Given the description of an element on the screen output the (x, y) to click on. 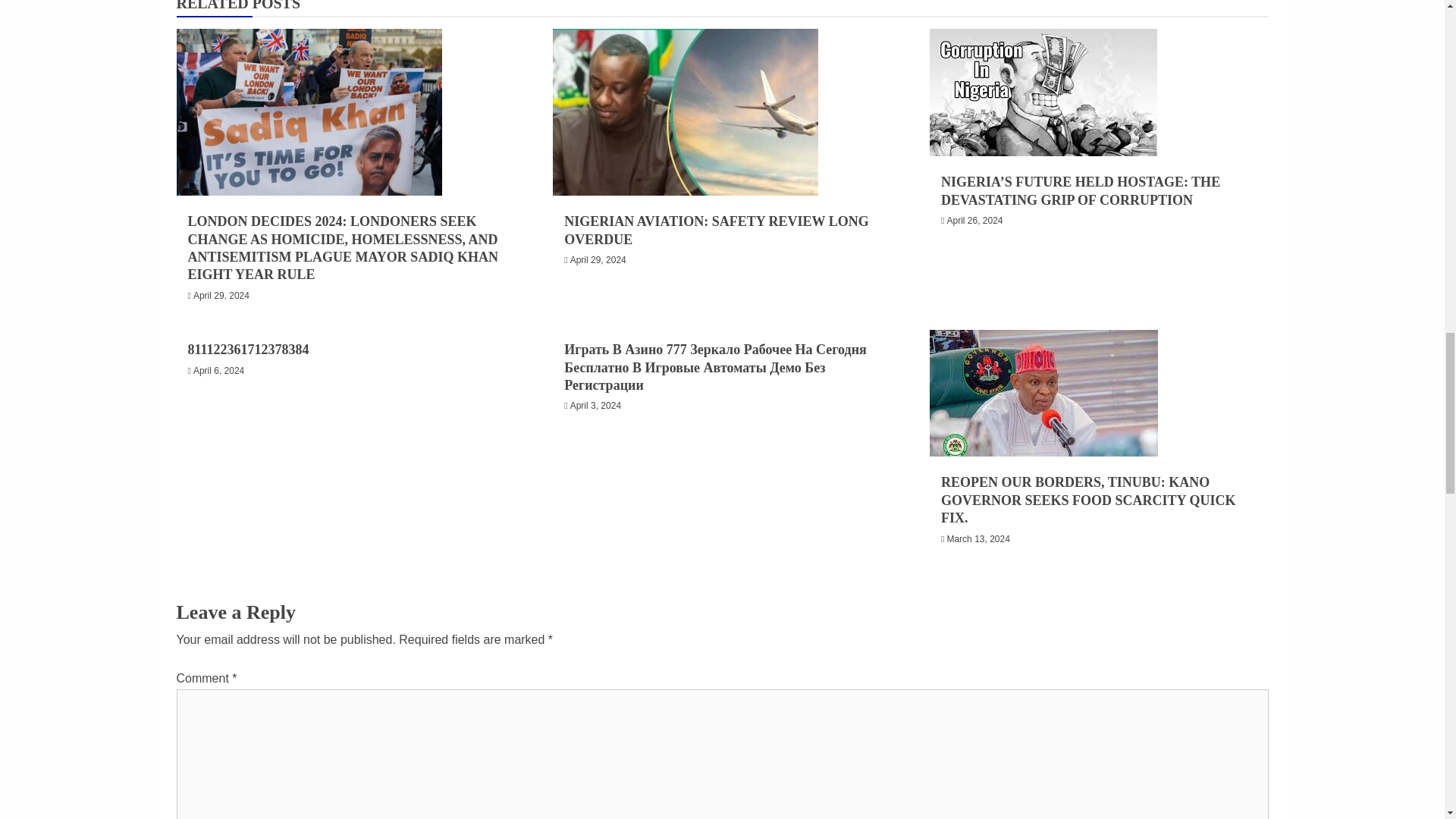
April 26, 2024 (974, 220)
April 29, 2024 (220, 295)
April 29, 2024 (598, 259)
April 6, 2024 (218, 370)
811122361712378384 (247, 349)
NIGERIAN AVIATION: SAFETY REVIEW LONG OVERDUE (715, 229)
